Given the description of an element on the screen output the (x, y) to click on. 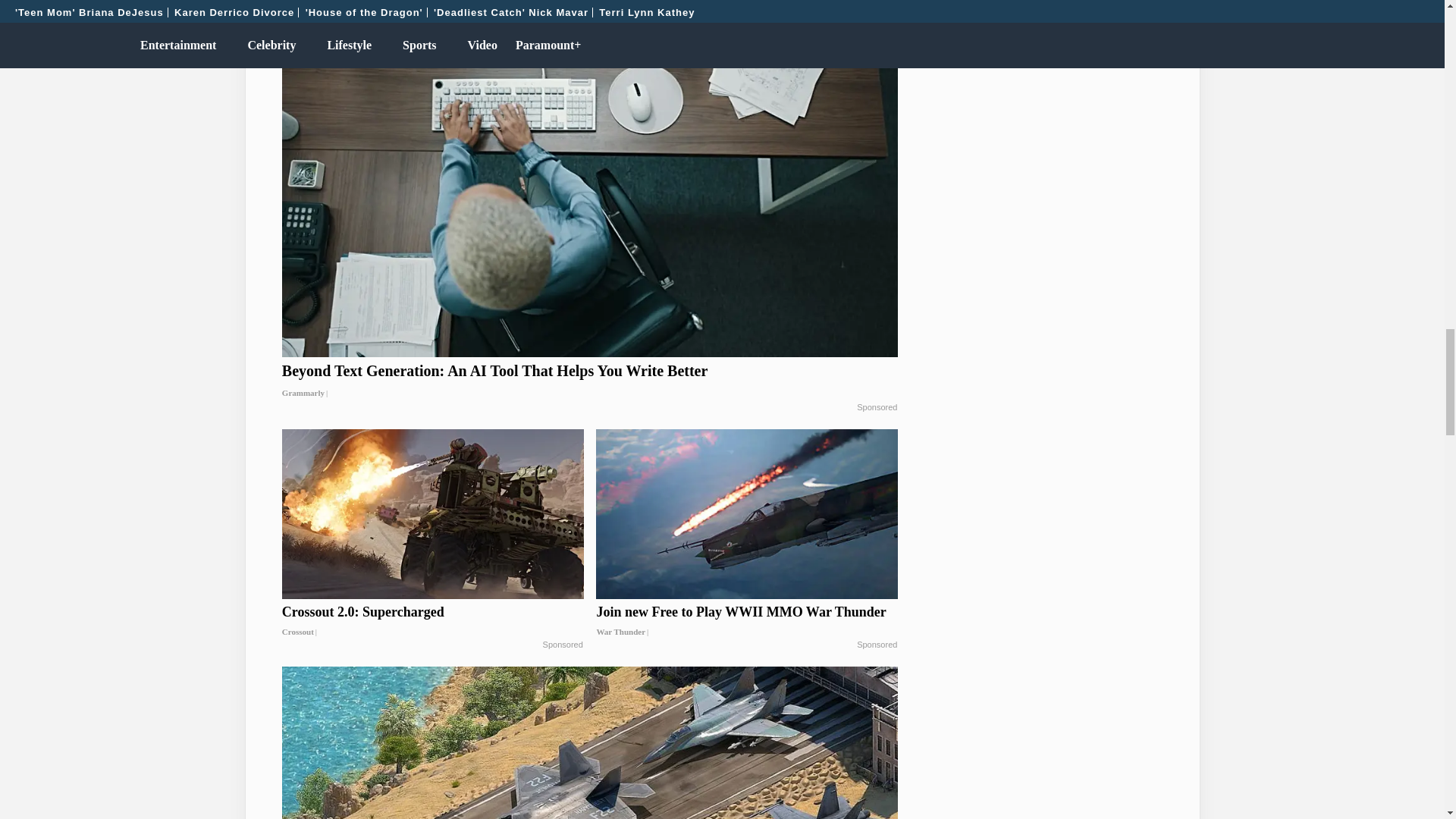
Crossout 2.0: Supercharged (432, 621)
